Given the description of an element on the screen output the (x, y) to click on. 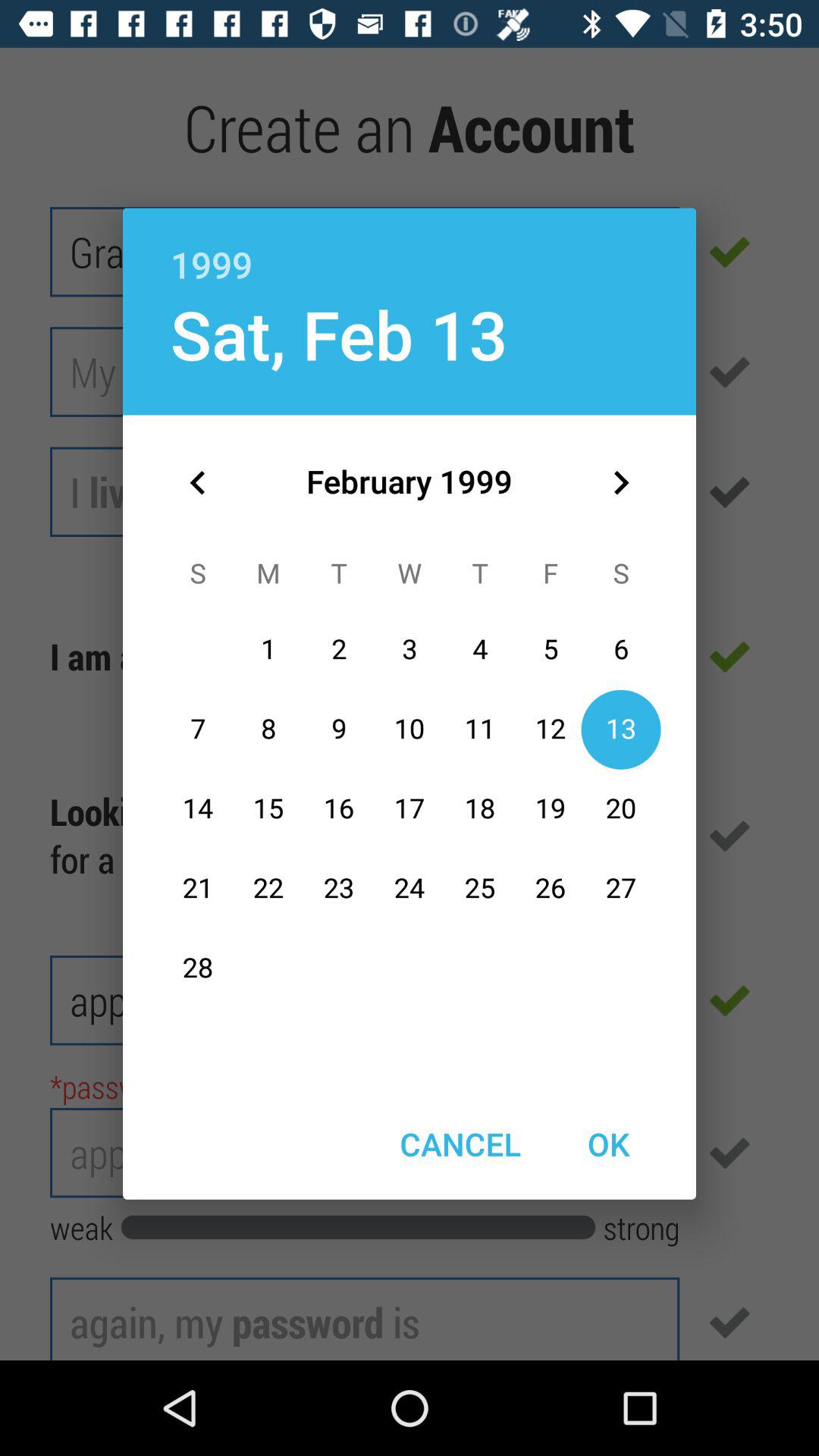
choose item next to cancel item (608, 1143)
